Given the description of an element on the screen output the (x, y) to click on. 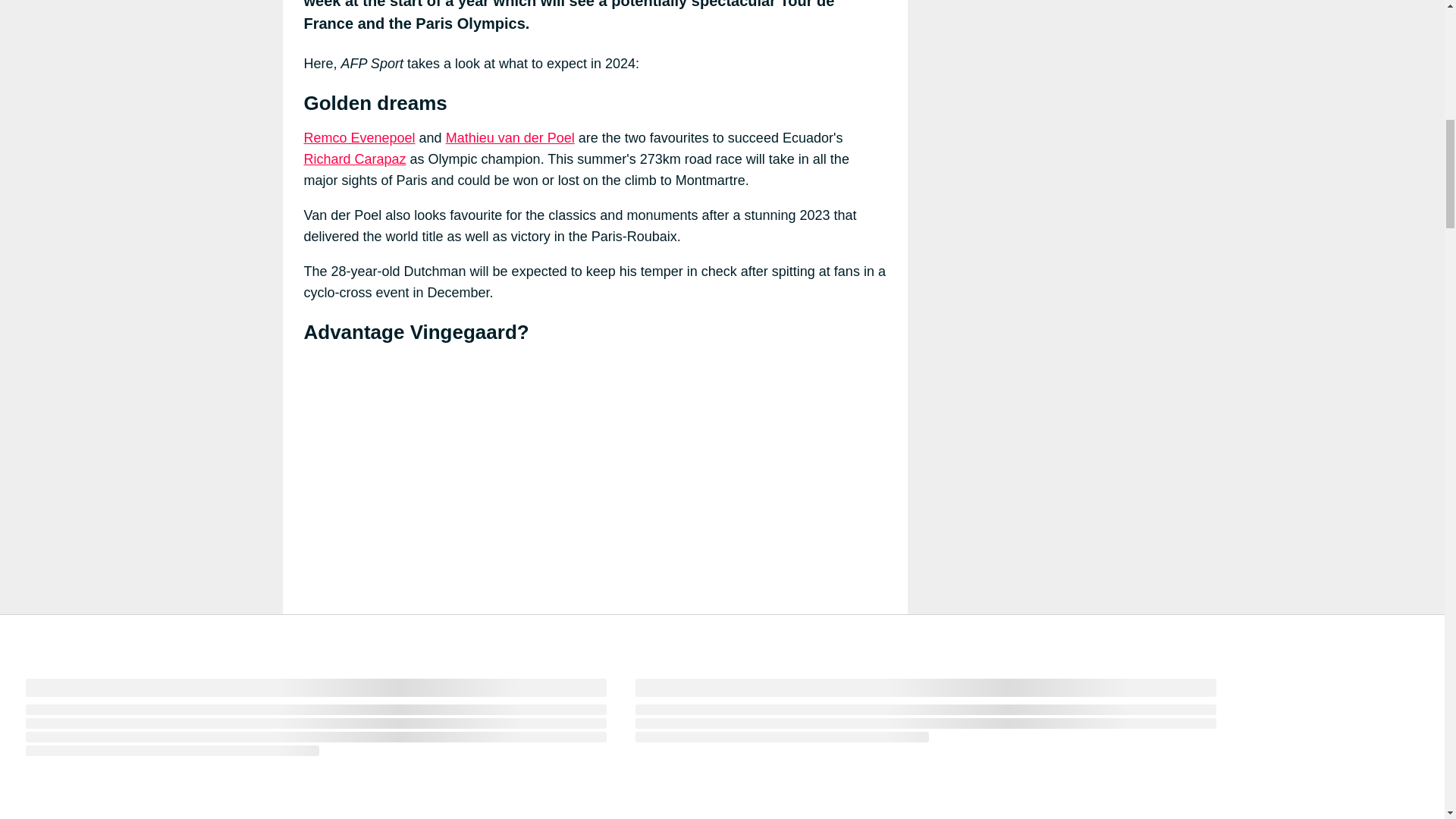
Jonas Vingegaard (748, 791)
Richard Carapaz (354, 159)
Remco Evenepoel (358, 137)
Tadej Pogacar (446, 812)
Mathieu van der Poel (510, 137)
